Given the description of an element on the screen output the (x, y) to click on. 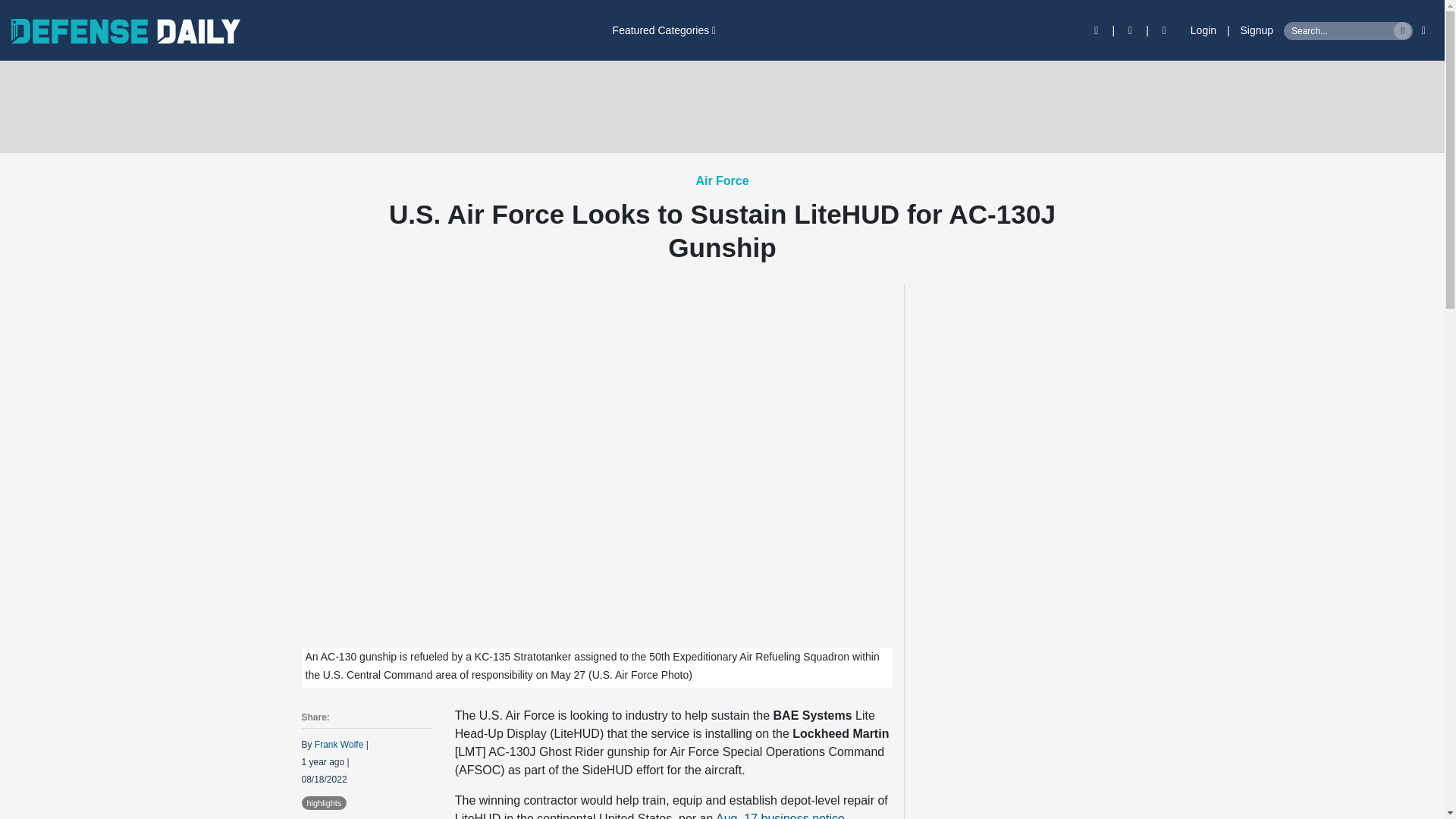
Signup (1257, 30)
highlights (324, 802)
Air Force (721, 180)
Frank Wolfe (338, 744)
